Given the description of an element on the screen output the (x, y) to click on. 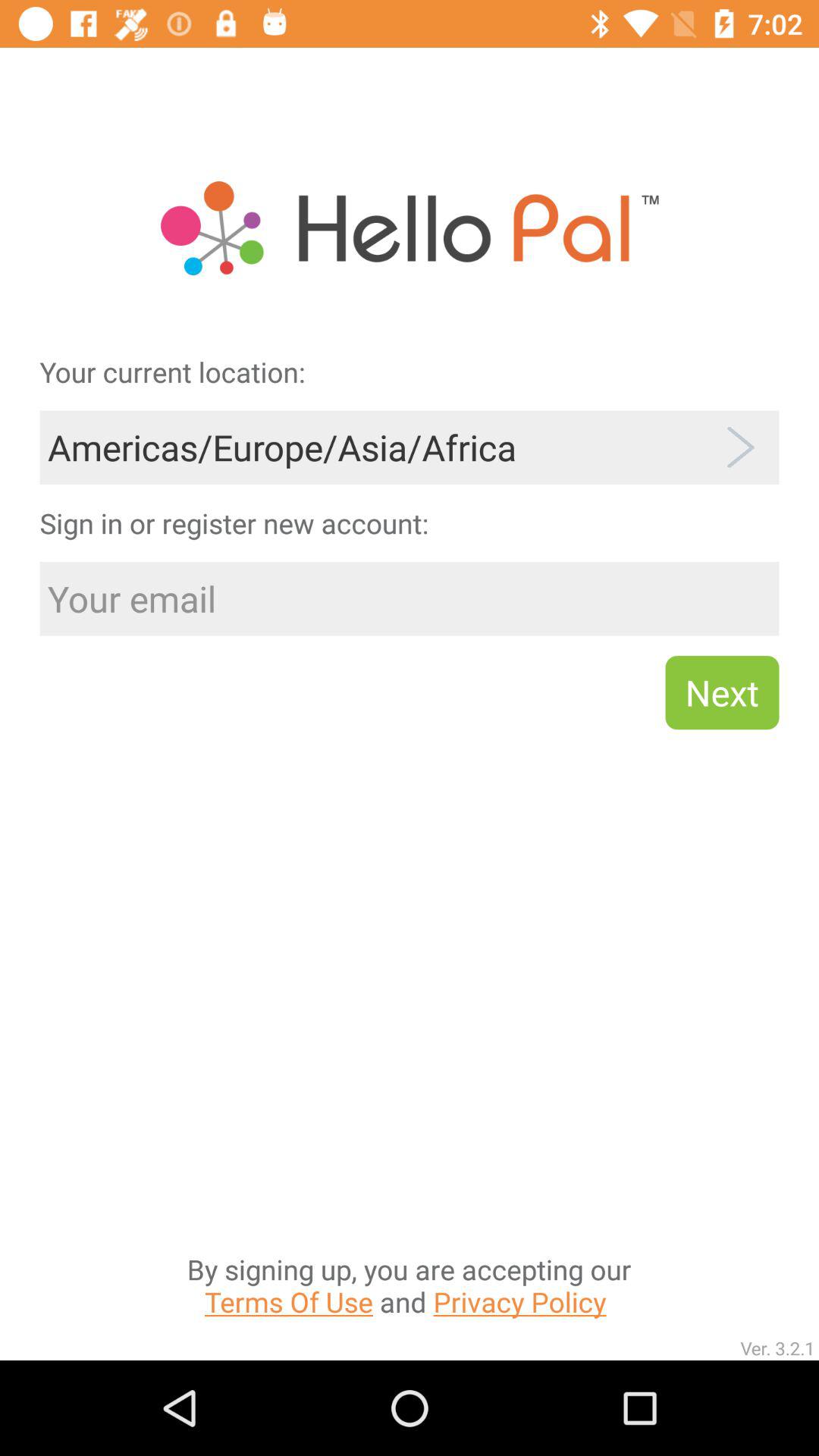
swipe to next item (722, 692)
